Given the description of an element on the screen output the (x, y) to click on. 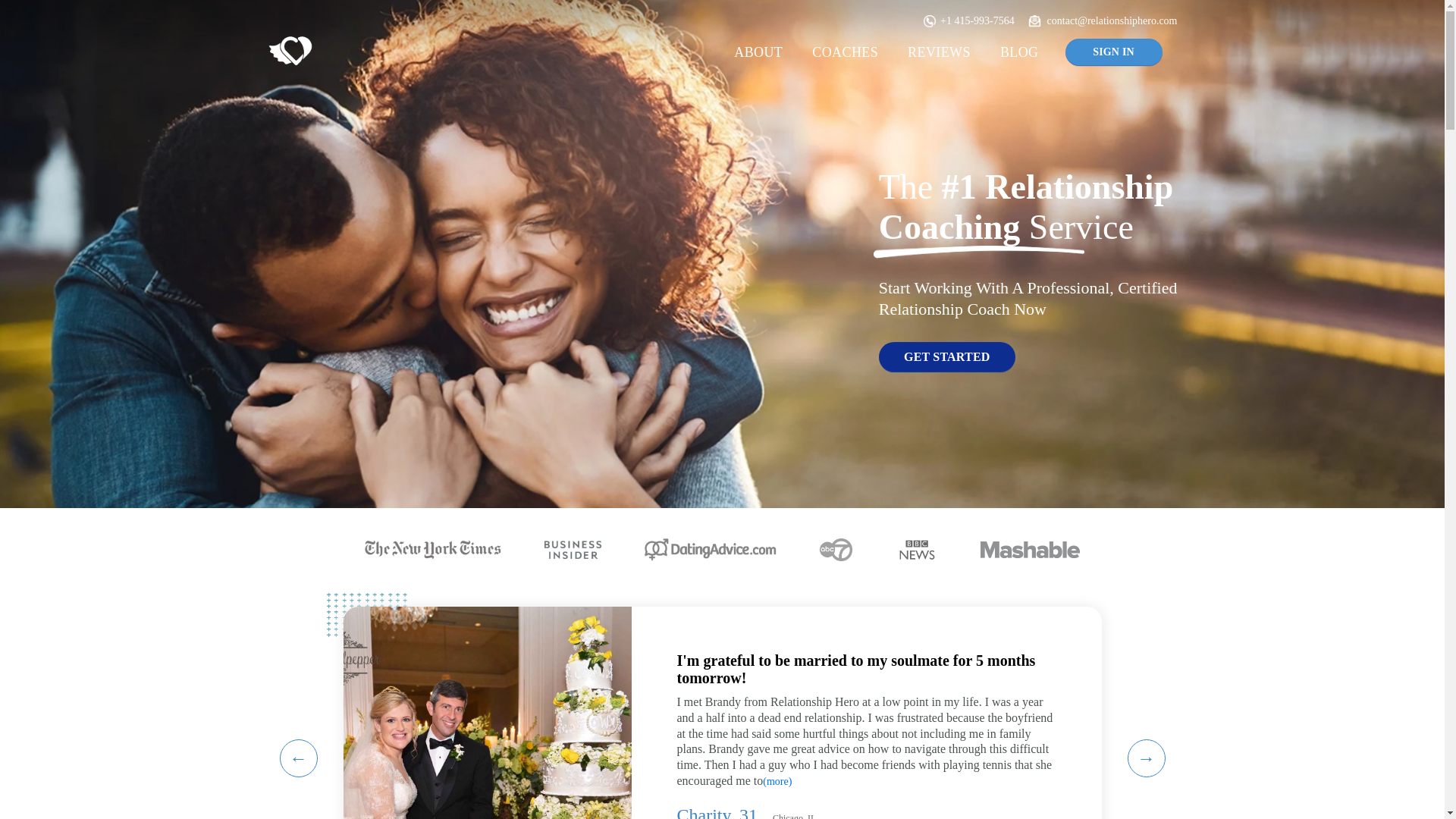
REVIEWS (938, 51)
SIGN IN (1112, 52)
ABOUT (758, 51)
BLOG (1019, 51)
COACHES (844, 51)
GET STARTED (946, 357)
